Given the description of an element on the screen output the (x, y) to click on. 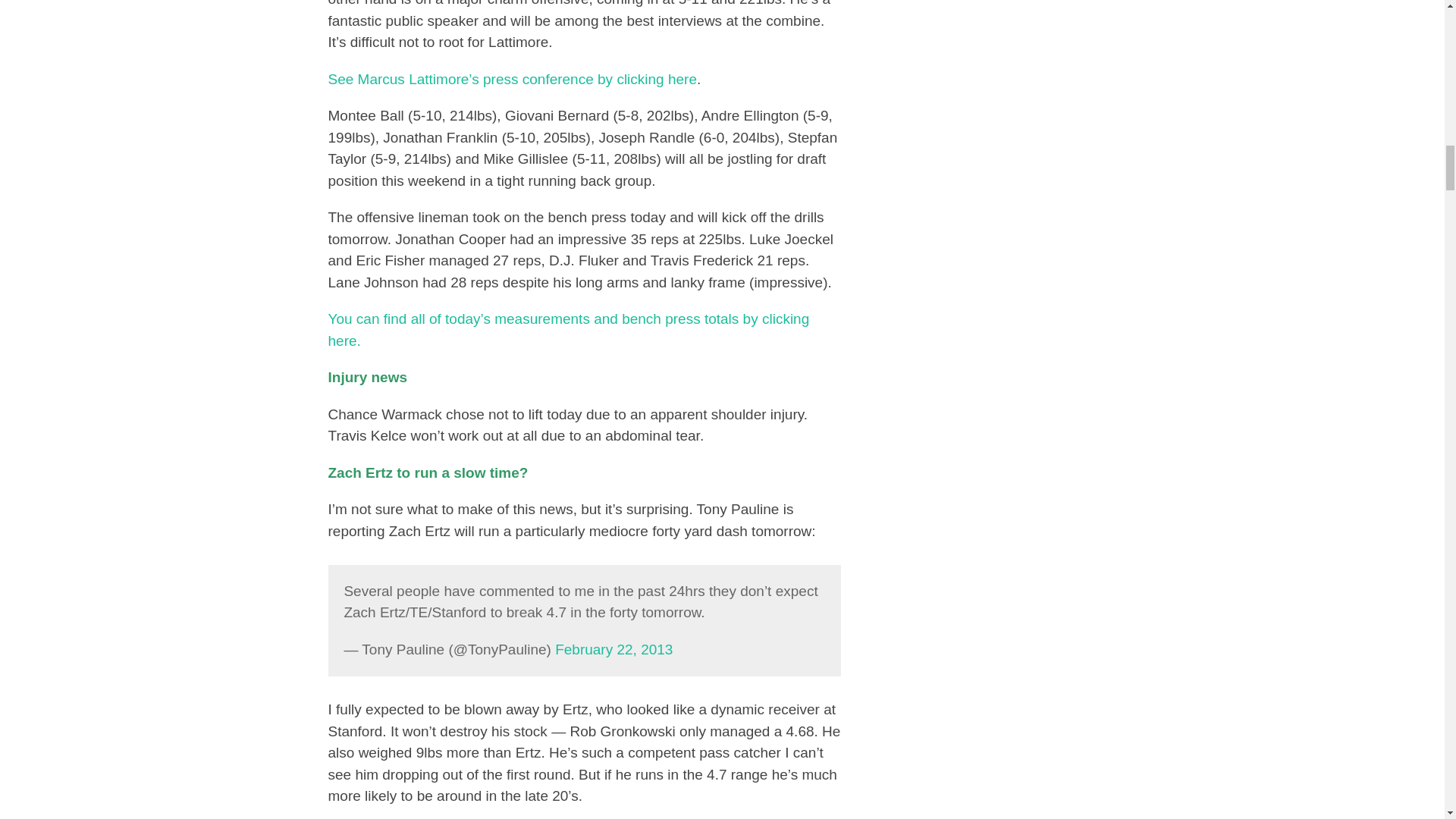
February 22, 2013 (613, 649)
